Given the description of an element on the screen output the (x, y) to click on. 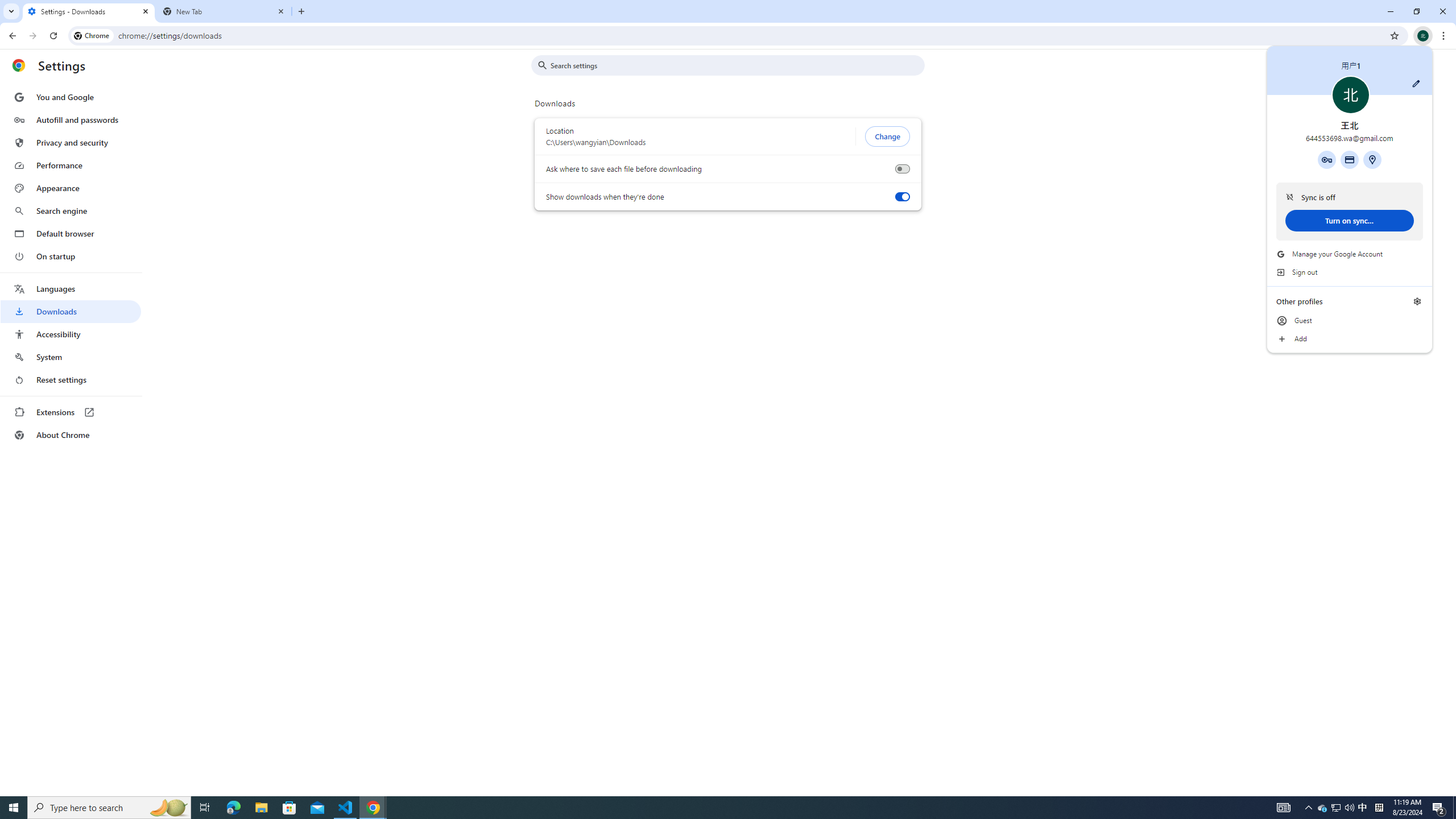
Microsoft Store (289, 807)
Reset settings (70, 379)
Downloads (70, 311)
Show desktop (1454, 807)
Reload (52, 35)
Minimize (1390, 11)
Languages (70, 288)
Sign out (1349, 272)
Customize profile (1415, 83)
User Promoted Notification Area (1336, 807)
Ask where to save each file before downloading (901, 168)
Search settings (735, 65)
Bookmark this tab (1393, 35)
Settings - Downloads (88, 11)
New Tab (224, 11)
